Given the description of an element on the screen output the (x, y) to click on. 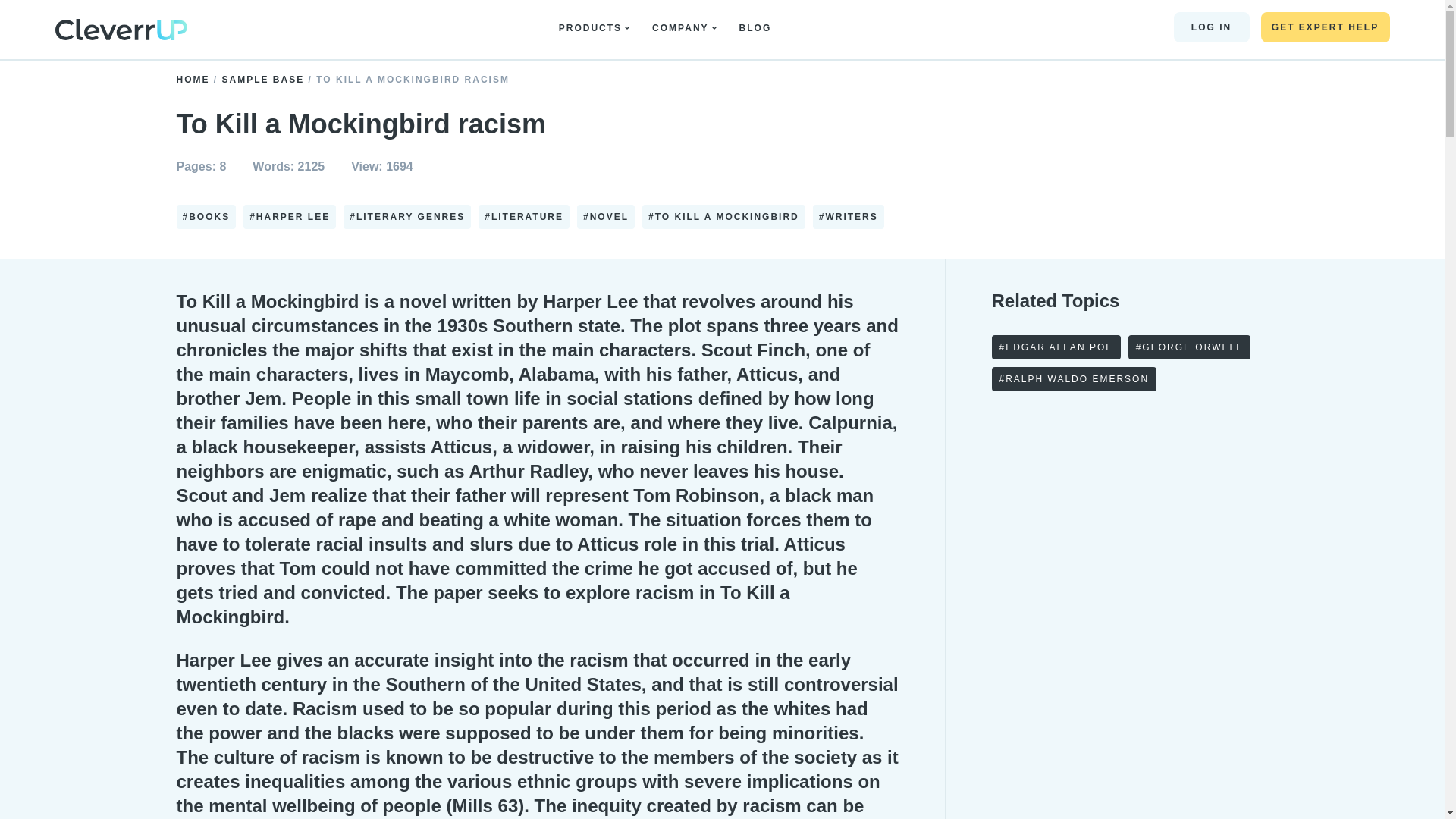
GET EXPERT HELP (1324, 27)
COMPANY (684, 27)
PRODUCTS (593, 27)
SAMPLE BASE (265, 79)
Home (120, 32)
HOME (194, 79)
LOG IN (1211, 27)
logo (120, 29)
BLOG (758, 27)
